Given the description of an element on the screen output the (x, y) to click on. 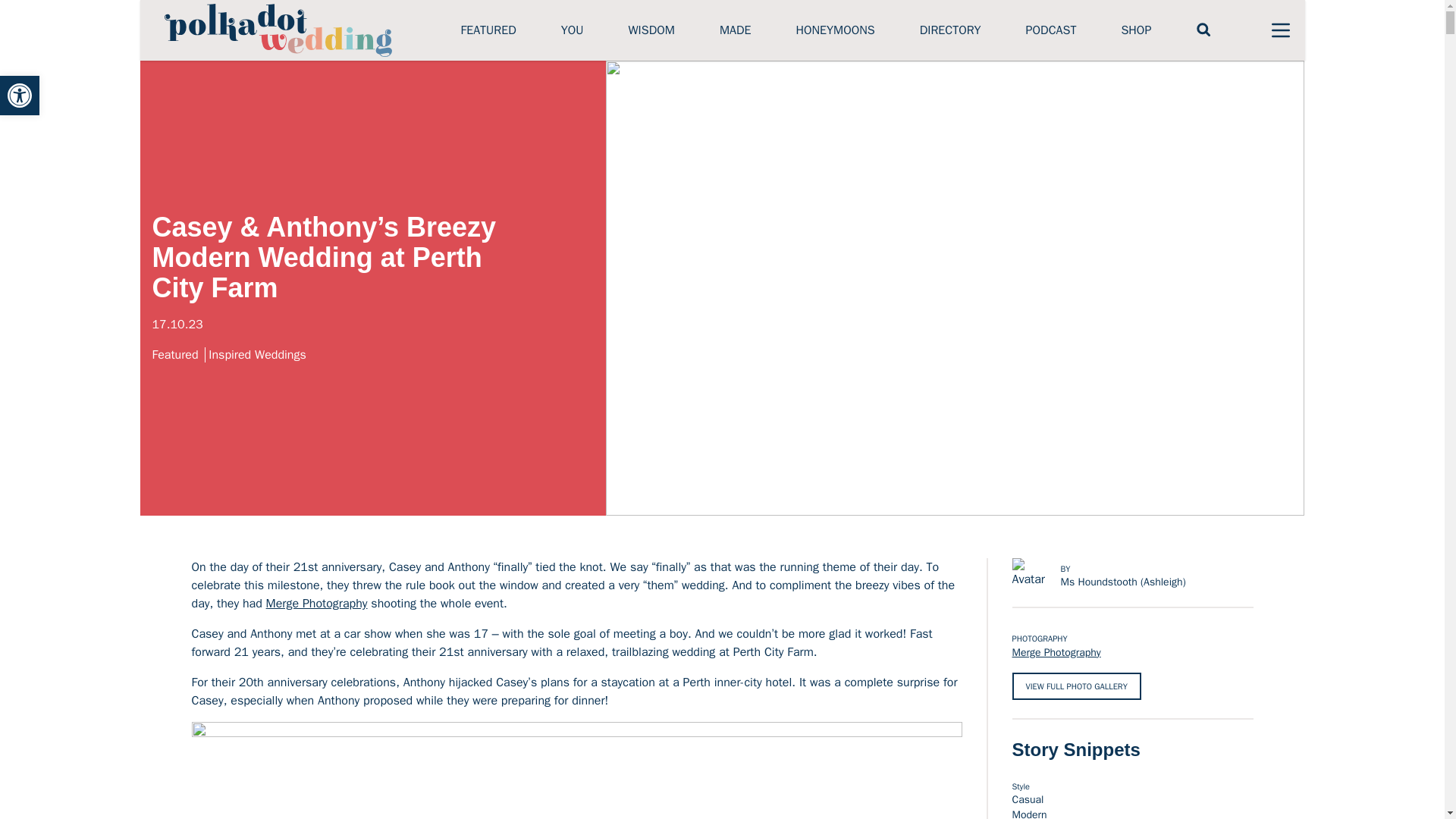
DIRECTORY (950, 29)
Merge Photography (317, 603)
Featured (178, 354)
MADE (735, 29)
Inspired Weddings (258, 354)
YOU (571, 29)
FEATURED (488, 29)
WISDOM (650, 29)
HONEYMOONS (834, 29)
PODCAST (1051, 29)
SHOP (1136, 29)
